Given the description of an element on the screen output the (x, y) to click on. 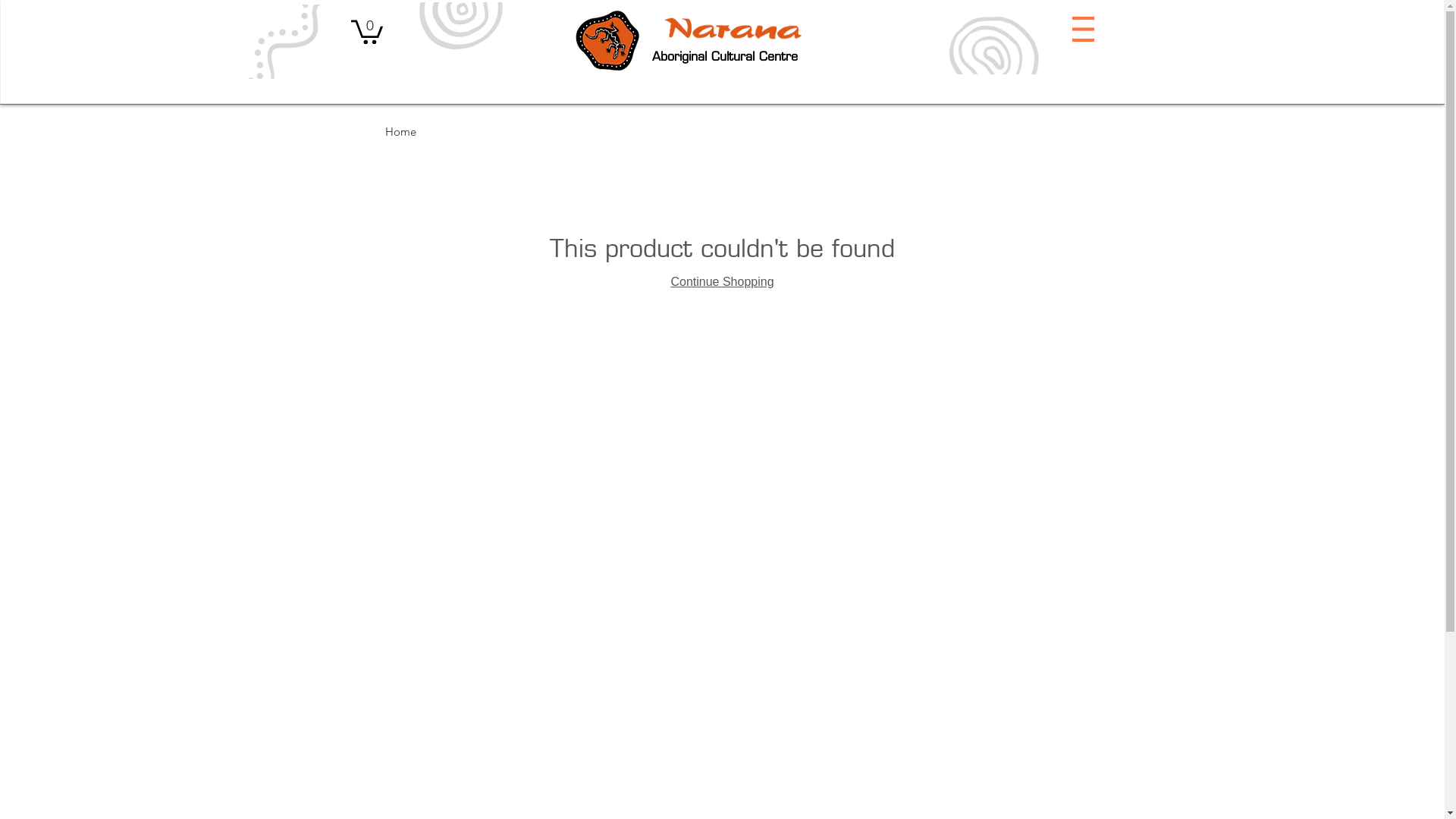
Home Element type: text (400, 131)
0 Element type: text (366, 30)
Continue Shopping Element type: text (721, 281)
Aboriginal Cultural Centre Element type: text (724, 54)
